Given the description of an element on the screen output the (x, y) to click on. 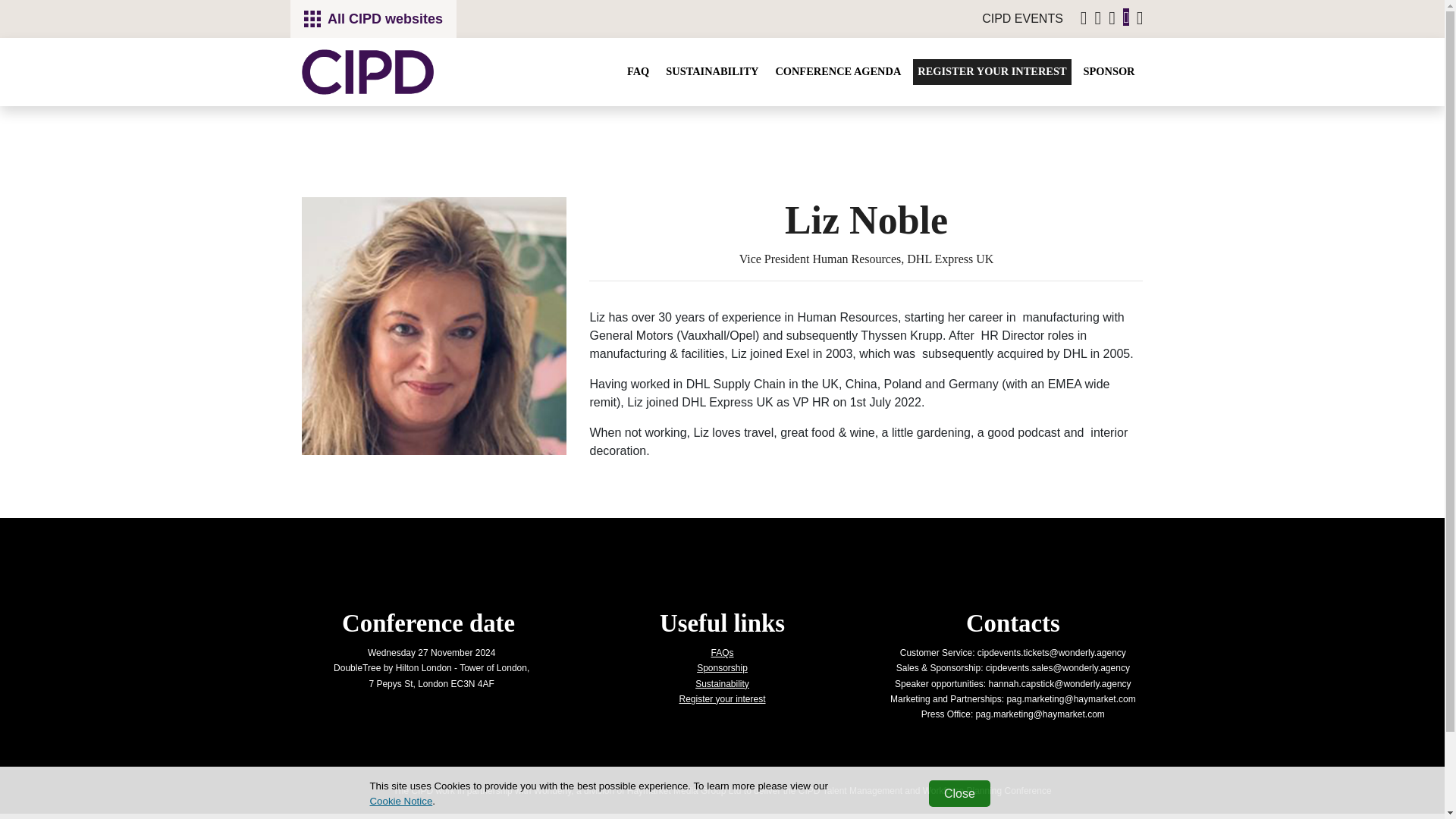
CIPD EVENTS (1021, 18)
FAQ (638, 71)
FAQ (638, 71)
CONFERENCE AGENDA (837, 71)
All CIPD websites (373, 18)
SUSTAINABILITY (711, 71)
SUSTAINABILITY (711, 71)
CONFERENCE AGENDA (837, 71)
CIPD EVENTS (1021, 18)
REGISTER YOUR INTEREST (991, 71)
SPONSOR (1109, 71)
